Given the description of an element on the screen output the (x, y) to click on. 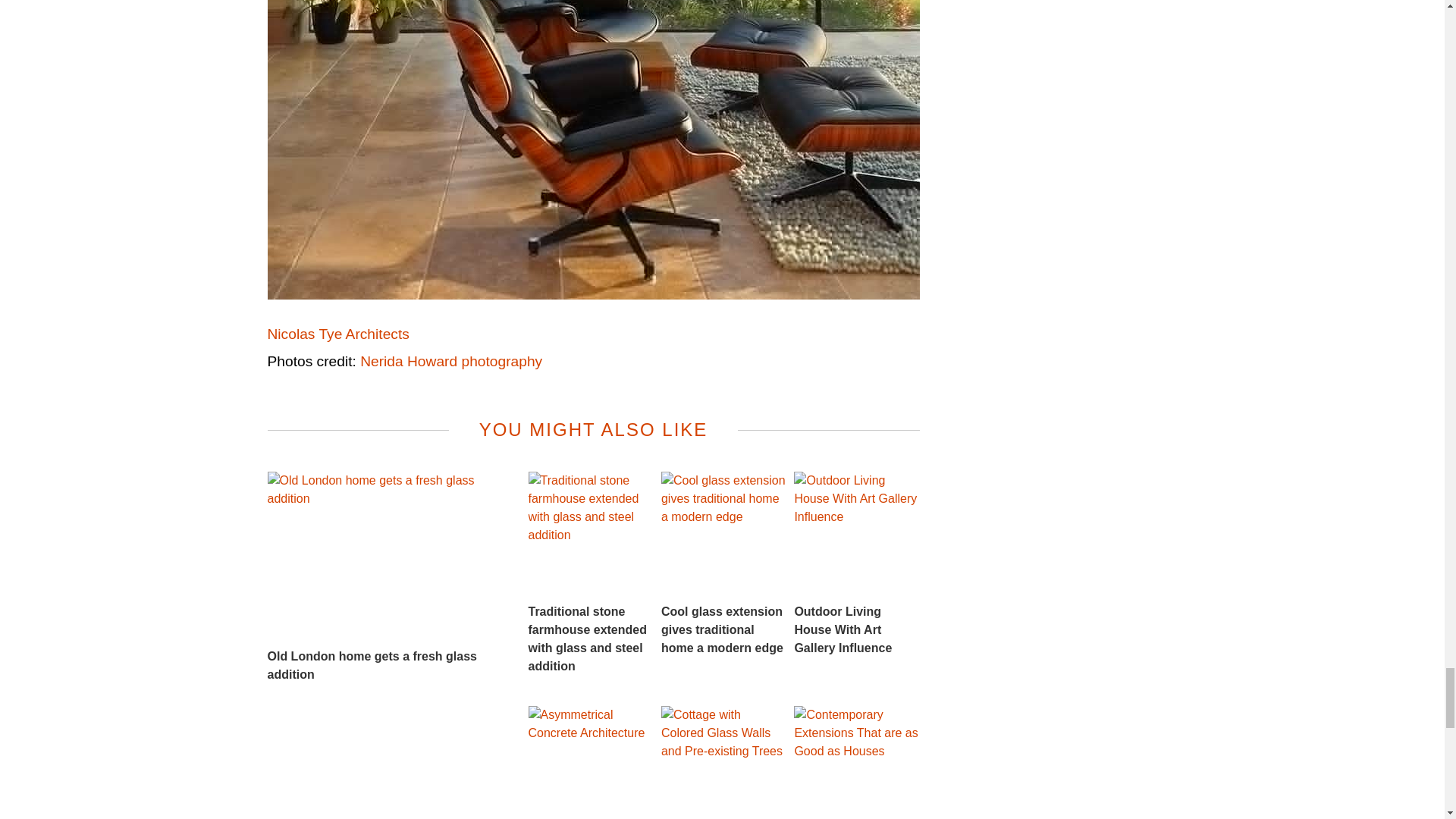
Nicolas Tye Architects (337, 333)
Old London home gets a fresh glass addition (385, 577)
Cottage with Colored Glass Walls and Pre-existing Trees (723, 762)
Contemporary Extensions That are as Good as Houses (855, 762)
Asymmetrical Concrete Architecture (589, 762)
Asymmetrical Concrete Architecture (589, 762)
Nerida Howard photography (450, 360)
Old London home gets a fresh glass addition (385, 577)
Cottage with Colored Glass Walls and Pre-existing Trees (723, 762)
